Given the description of an element on the screen output the (x, y) to click on. 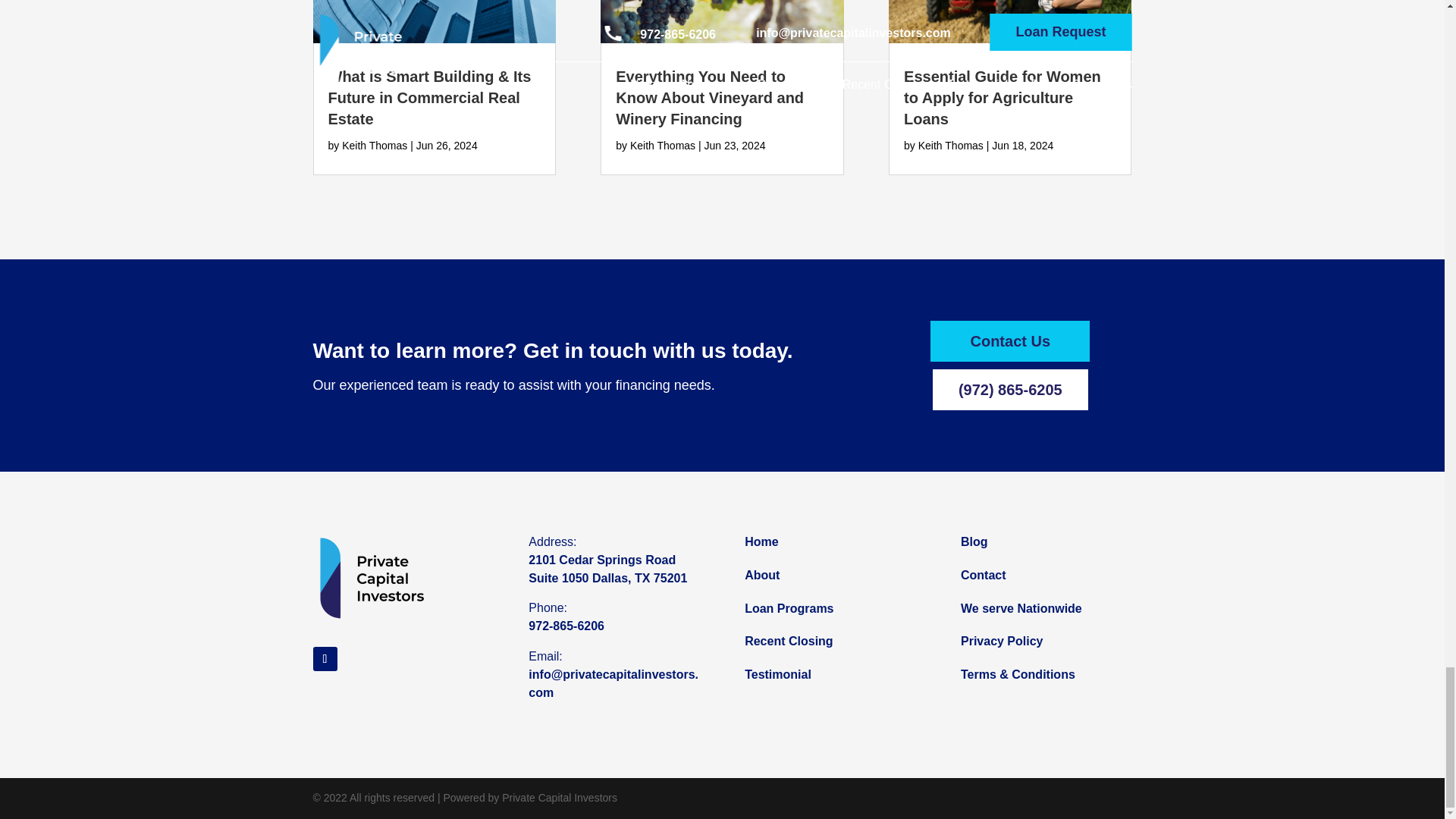
Follow on LinkedIn (324, 658)
Posts by Keith Thomas (374, 145)
Posts by Keith Thomas (951, 145)
PCI Logo-05 2 (371, 578)
Keith Thomas (951, 145)
Posts by Keith Thomas (662, 145)
Keith Thomas (374, 145)
Essential Guide for Women to Apply for Agriculture Loans (1002, 97)
Keith Thomas (662, 145)
Contact Us (1009, 341)
